Given the description of an element on the screen output the (x, y) to click on. 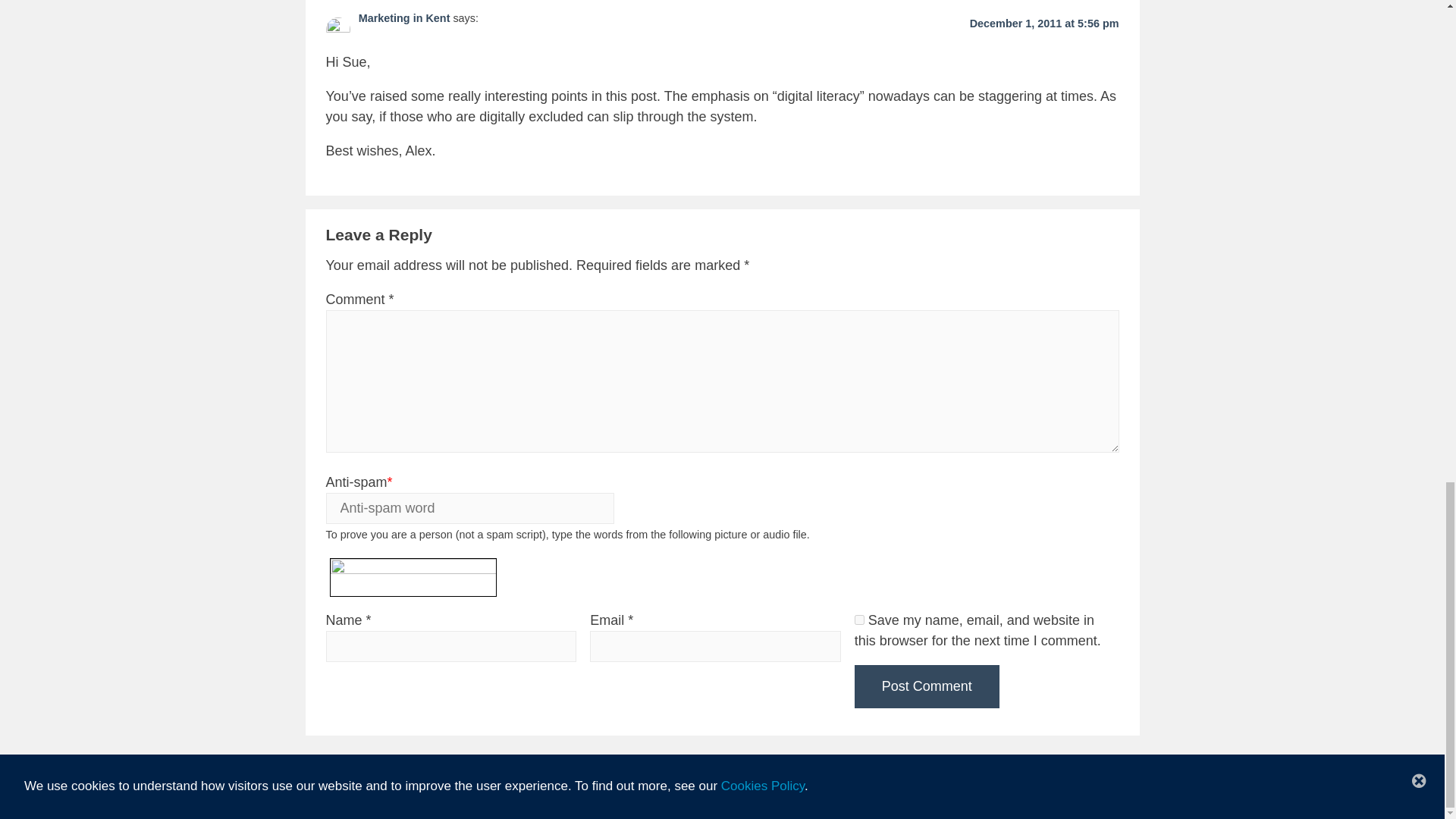
Proudly powered by WordPress (682, 797)
December 1, 2011 at 5:56 pm (1044, 23)
Marketing in Kent (403, 18)
Load new (506, 583)
Post Comment (926, 686)
Bhari (834, 797)
Listen to the Anti-spam word (506, 567)
Post Comment (926, 686)
yes (859, 619)
